Given the description of an element on the screen output the (x, y) to click on. 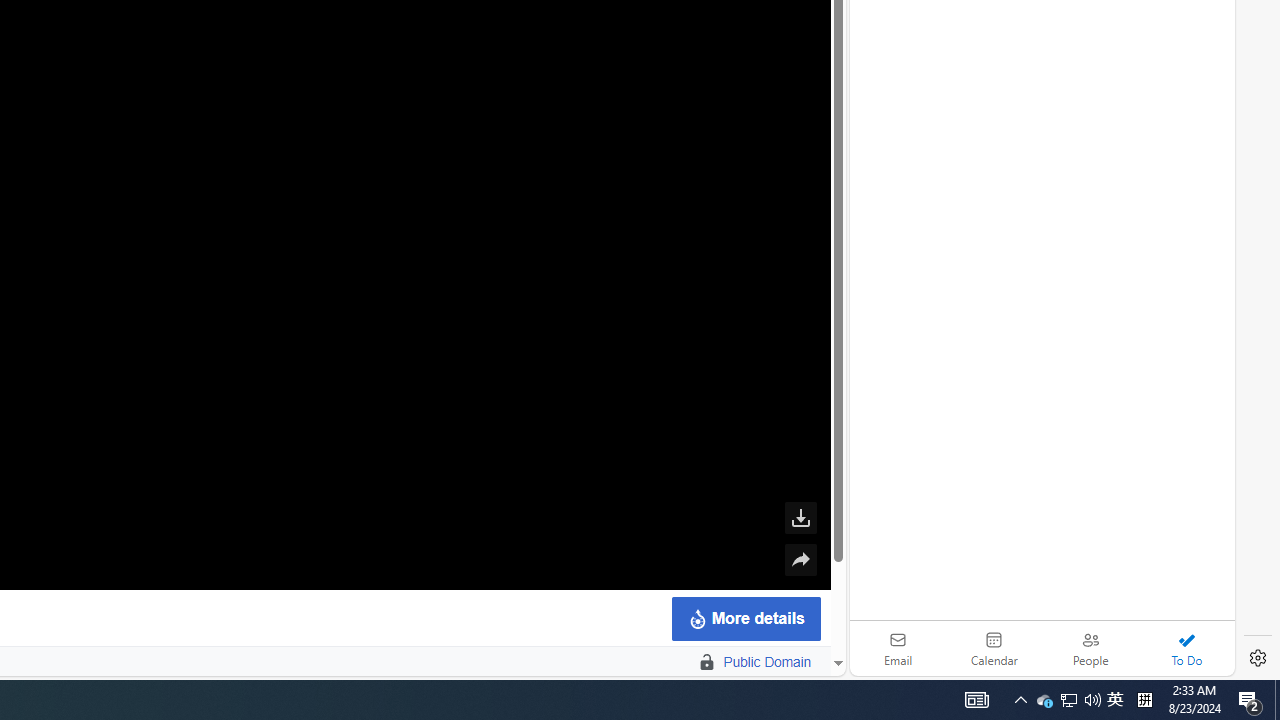
People (1090, 648)
Calendar. Date today is 22 (994, 648)
Download this file (800, 517)
To Do (1186, 648)
Public Domain (767, 662)
Share or embed this file (800, 560)
  Public Domain (697, 662)
More details (745, 618)
Email (898, 648)
